Given the description of an element on the screen output the (x, y) to click on. 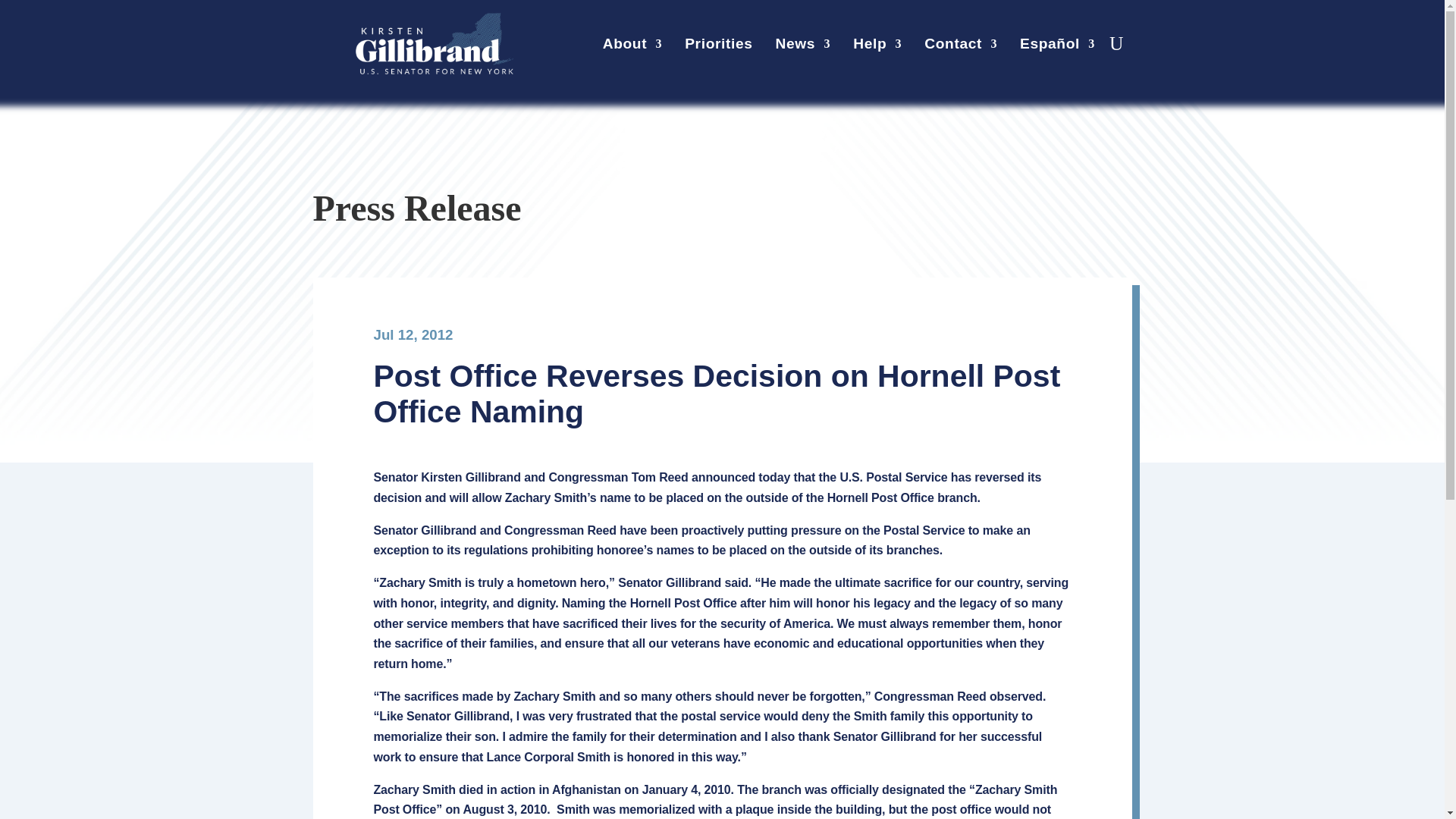
Contact (960, 46)
Help (877, 46)
Priorities (718, 46)
gillibrand-logo (434, 43)
About (632, 46)
News (803, 46)
